Given the description of an element on the screen output the (x, y) to click on. 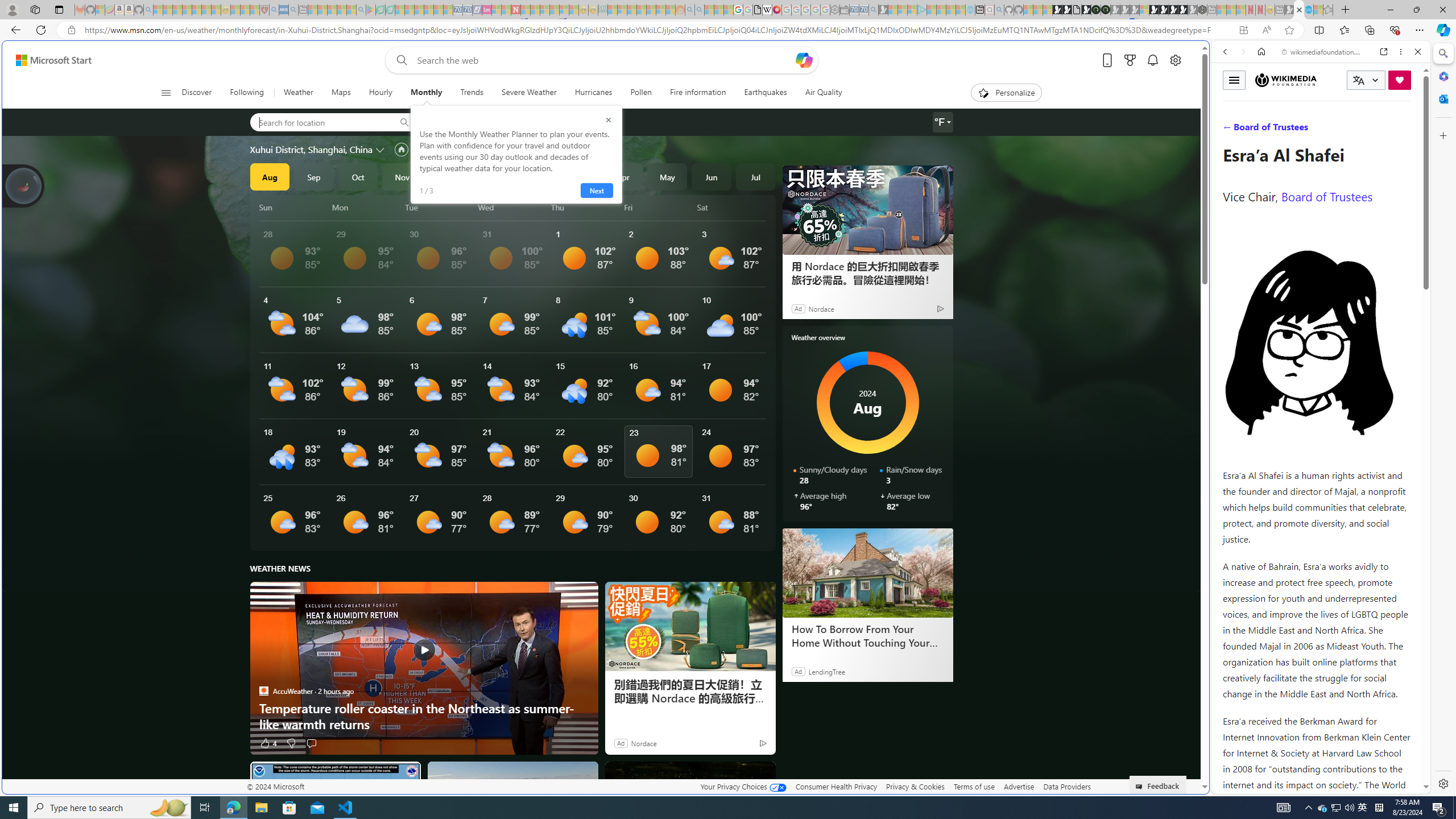
Apr (622, 176)
World - MSN (727, 389)
2025 Jan (490, 176)
Consumer Health Privacy (835, 785)
Consumer Health Privacy (835, 786)
